Given the description of an element on the screen output the (x, y) to click on. 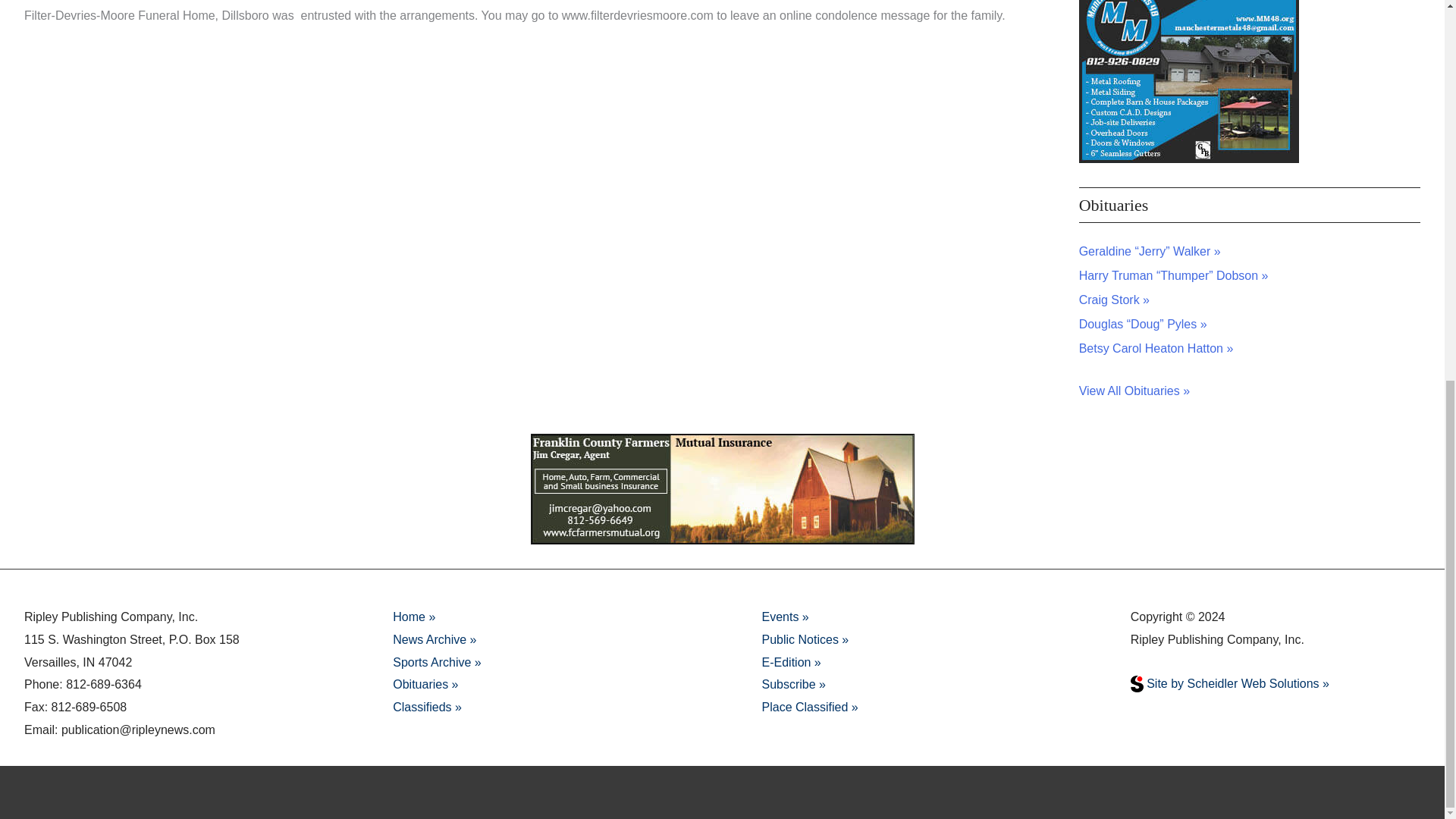
View All Obituaries (1133, 390)
Betsy Carol Heaton Hatton (1155, 348)
Craig Stork (1114, 299)
